Given the description of an element on the screen output the (x, y) to click on. 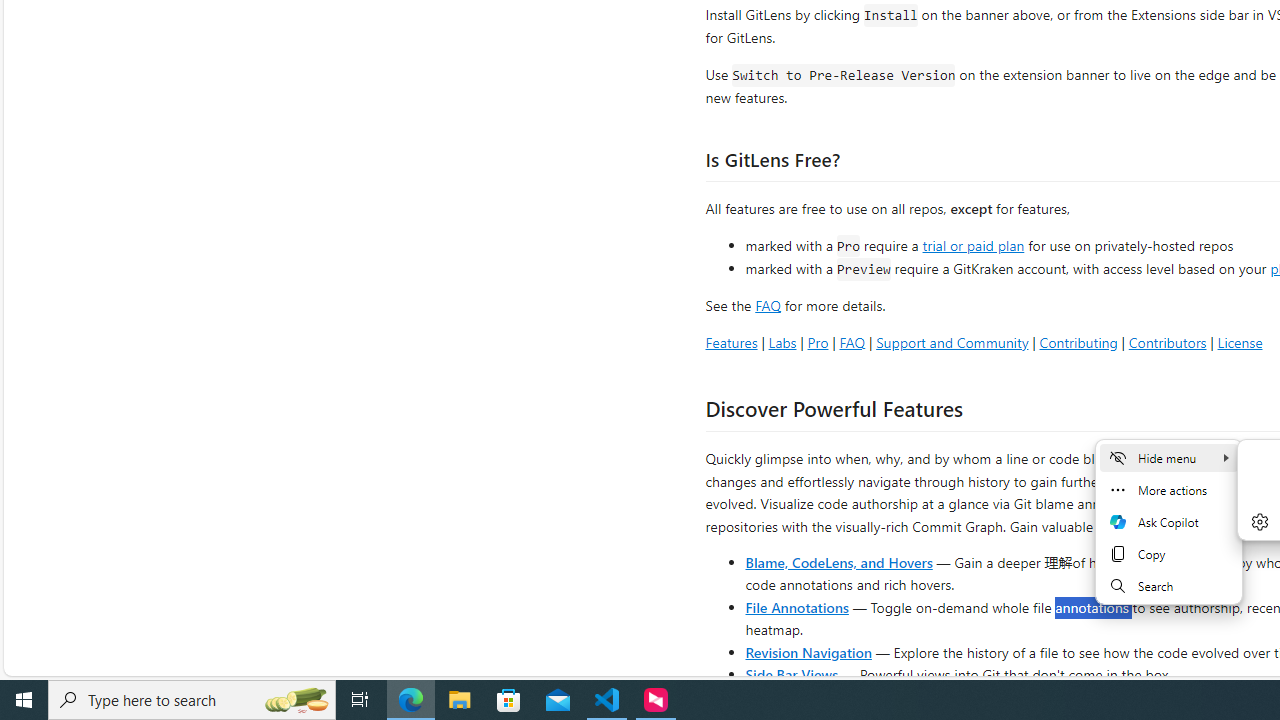
Contributors (1167, 341)
Pro (817, 341)
Copy (1168, 553)
FAQ (852, 341)
Revision Navigation (807, 651)
